Given the description of an element on the screen output the (x, y) to click on. 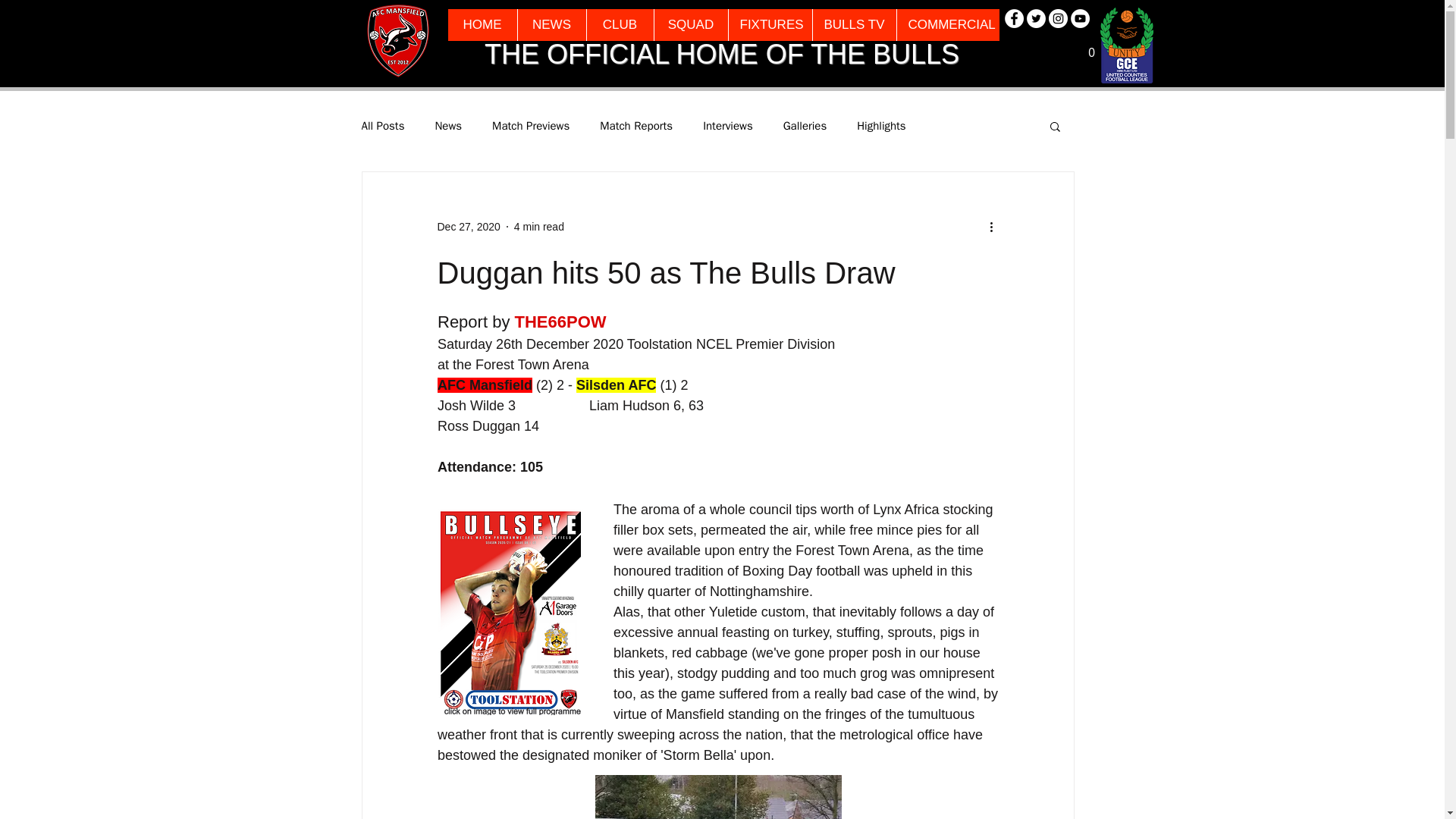
4 min read (538, 226)
Interviews (727, 125)
All Posts (382, 125)
News (447, 125)
Match Previews (530, 125)
NEWS (551, 24)
FIXTURES (770, 24)
Highlights (881, 125)
SQUAD (690, 24)
HOME (481, 24)
Galleries (805, 125)
Match Reports (635, 125)
CLUB (618, 24)
Dec 27, 2020 (467, 226)
AFC MANSFIELD.png (397, 40)
